Given the description of an element on the screen output the (x, y) to click on. 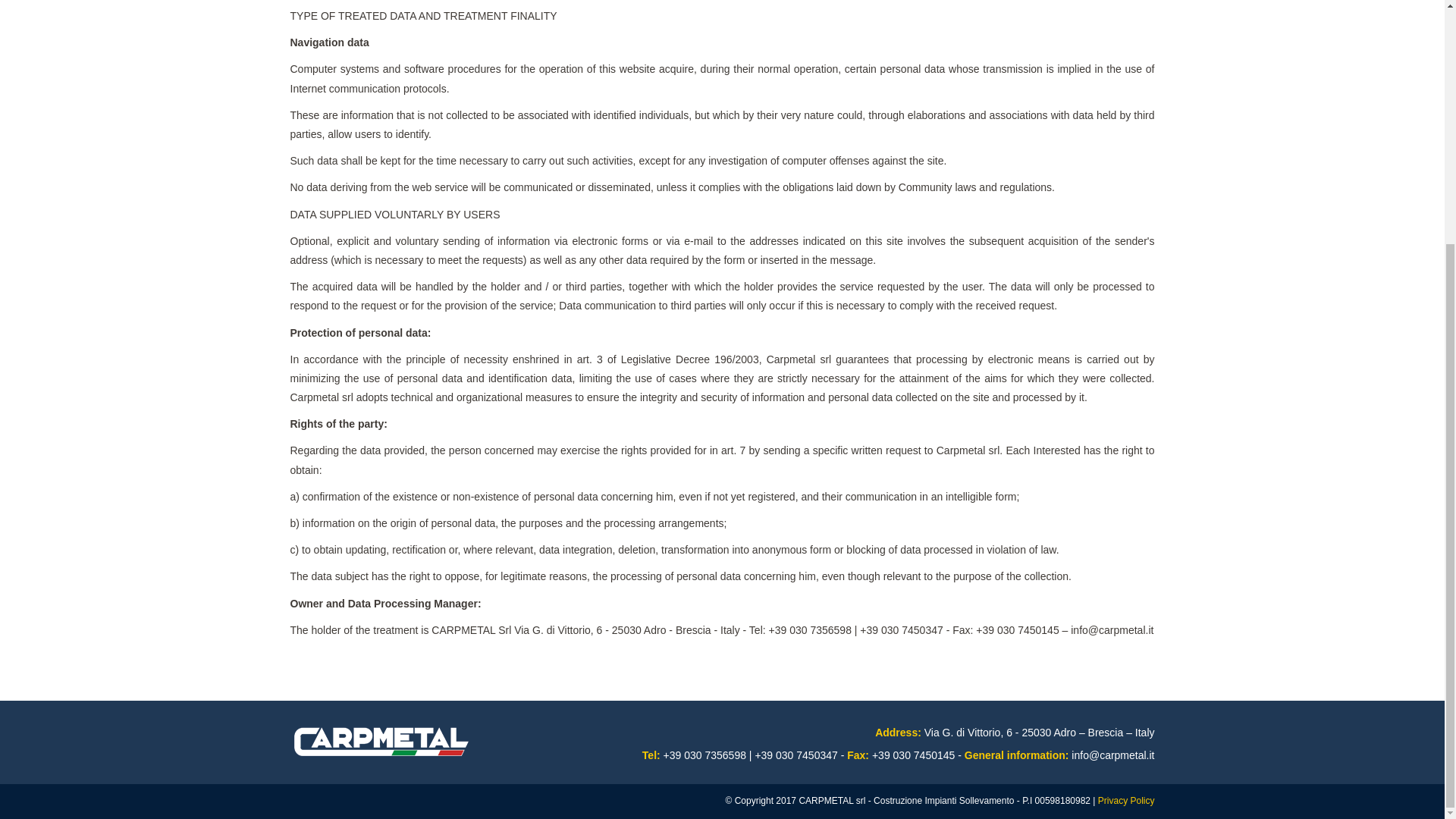
Privacy Policy (1125, 800)
